Given the description of an element on the screen output the (x, y) to click on. 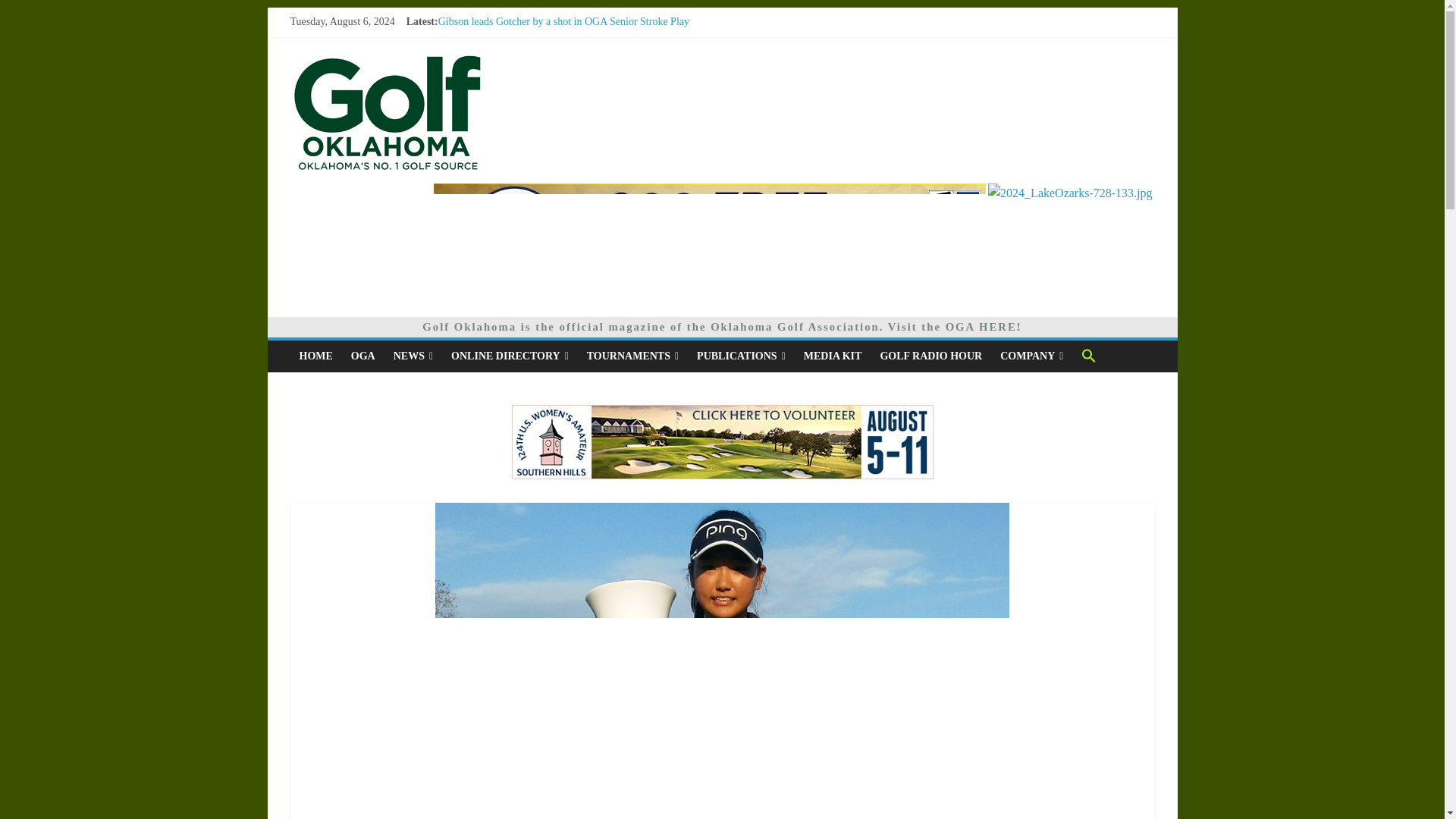
Kilcrease rejoins former coach Young with transfer to OSU (564, 38)
NEWS (413, 356)
PUBLICATIONS (740, 356)
How to apply for summer golf school being a college student (568, 71)
COMPANY (1031, 356)
GOLF OKLAHOMA (386, 61)
MEDIA KIT (832, 356)
ONLINE DIRECTORY (510, 356)
TOURNAMENTS (632, 356)
OGA (363, 356)
How to apply for summer golf school being a college student (568, 71)
HOME (314, 356)
Kilcrease rejoins former coach Young with transfer to OSU (564, 38)
Gibson leads Gotcher by a shot in OGA Senior Stroke Play (563, 21)
